Given the description of an element on the screen output the (x, y) to click on. 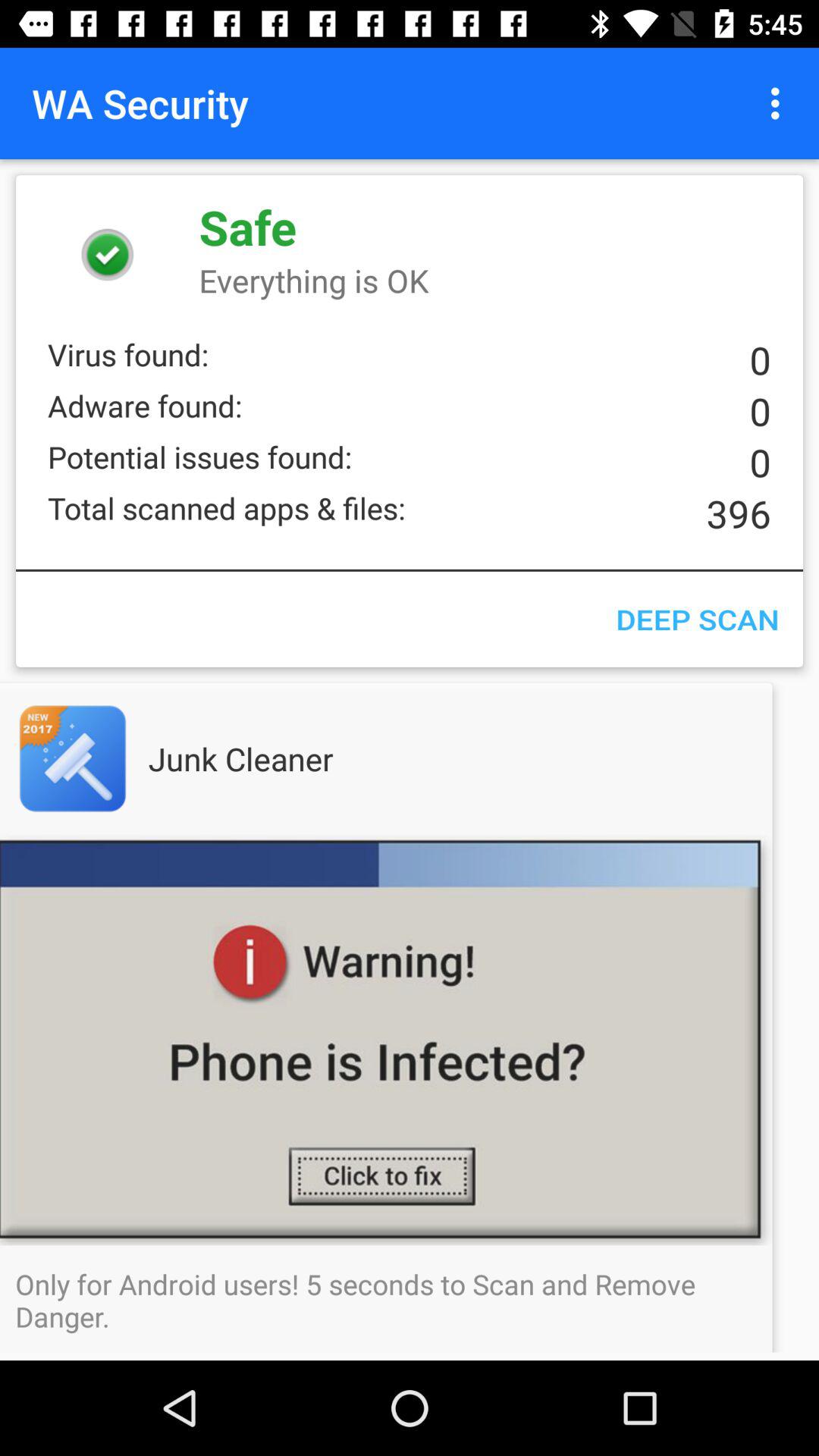
go to app page of displayed app (103, 758)
